Given the description of an element on the screen output the (x, y) to click on. 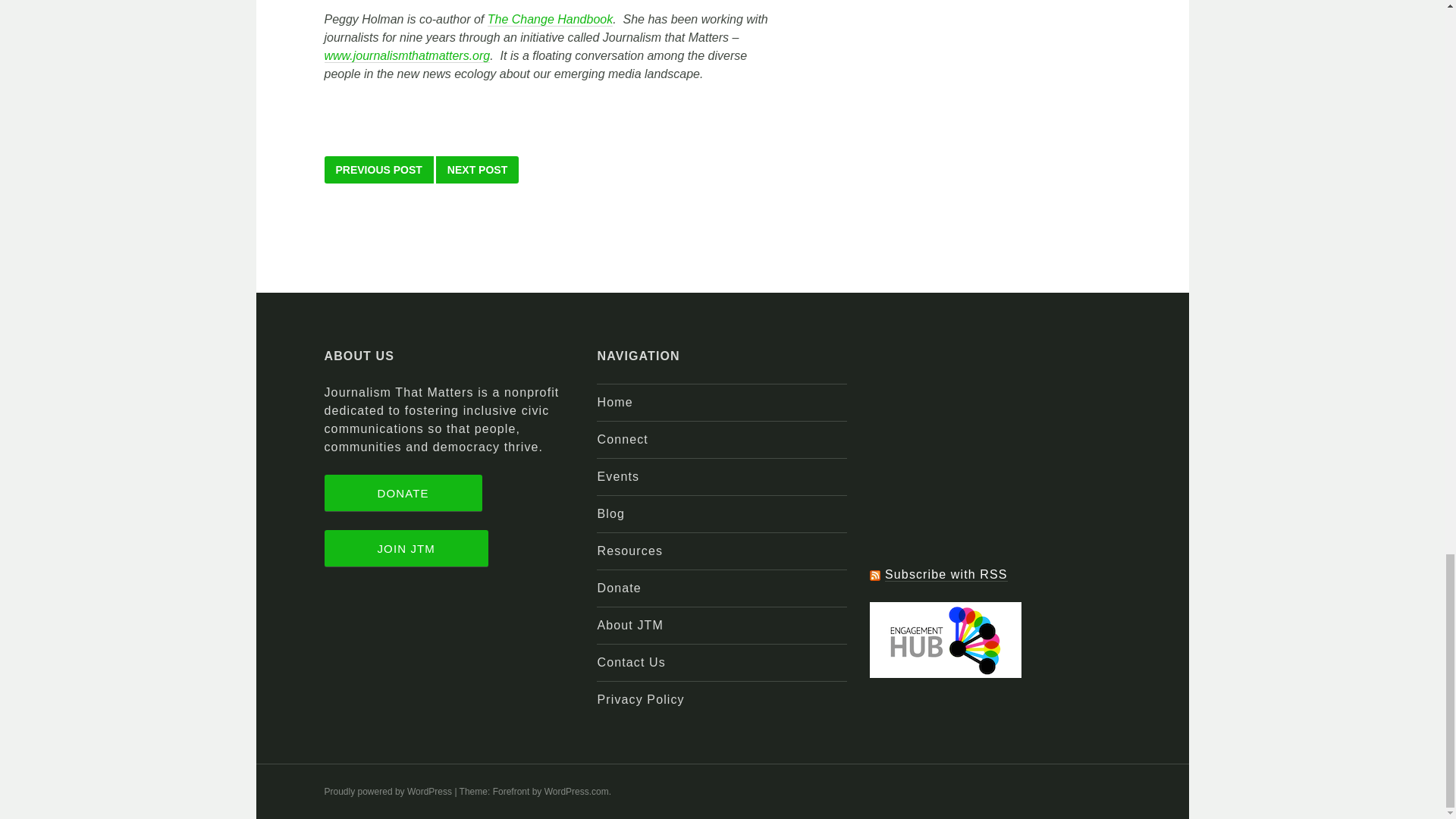
Journalism that Matters (407, 56)
Resources (629, 550)
www.journalismthatmatters.org (407, 56)
DONATE (402, 493)
Home (613, 401)
NEXT POST (476, 169)
Subscribe with RSS (946, 574)
Privacy Policy (640, 698)
PREVIOUS POST (378, 169)
Donate (618, 587)
The Change Handbook (549, 19)
Twitter Follow Button (994, 534)
Contact Us (630, 662)
Blog (610, 513)
Events (617, 476)
